Given the description of an element on the screen output the (x, y) to click on. 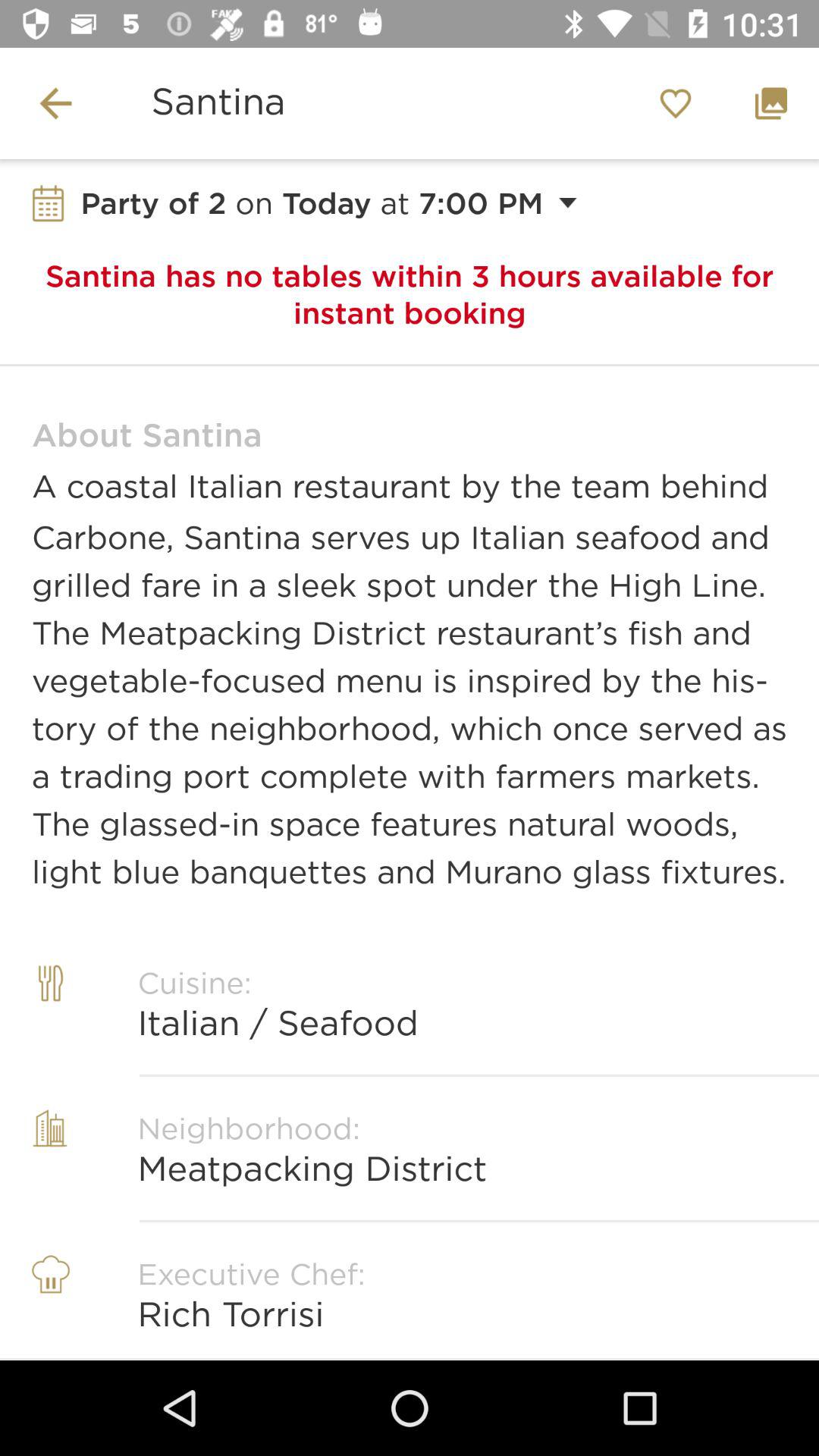
click on calender icon at top left (48, 202)
select the symbol which is left to the cuisine option (50, 1018)
